Given the description of an element on the screen output the (x, y) to click on. 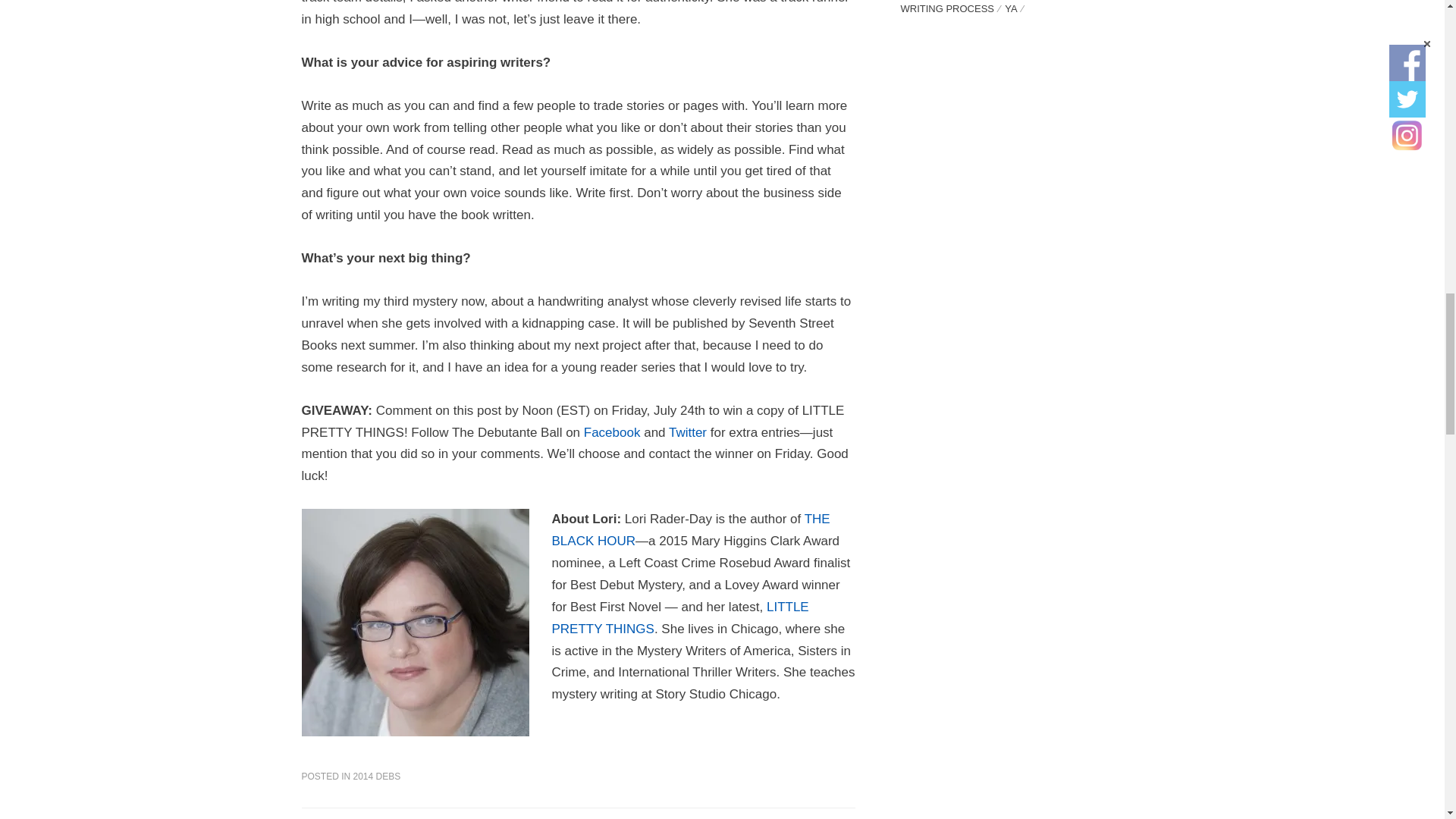
Twitter (687, 431)
2014 DEBS (377, 776)
Facebook (611, 431)
LITTLE PRETTY THINGS (680, 617)
THE BLACK HOUR (690, 529)
